Given the description of an element on the screen output the (x, y) to click on. 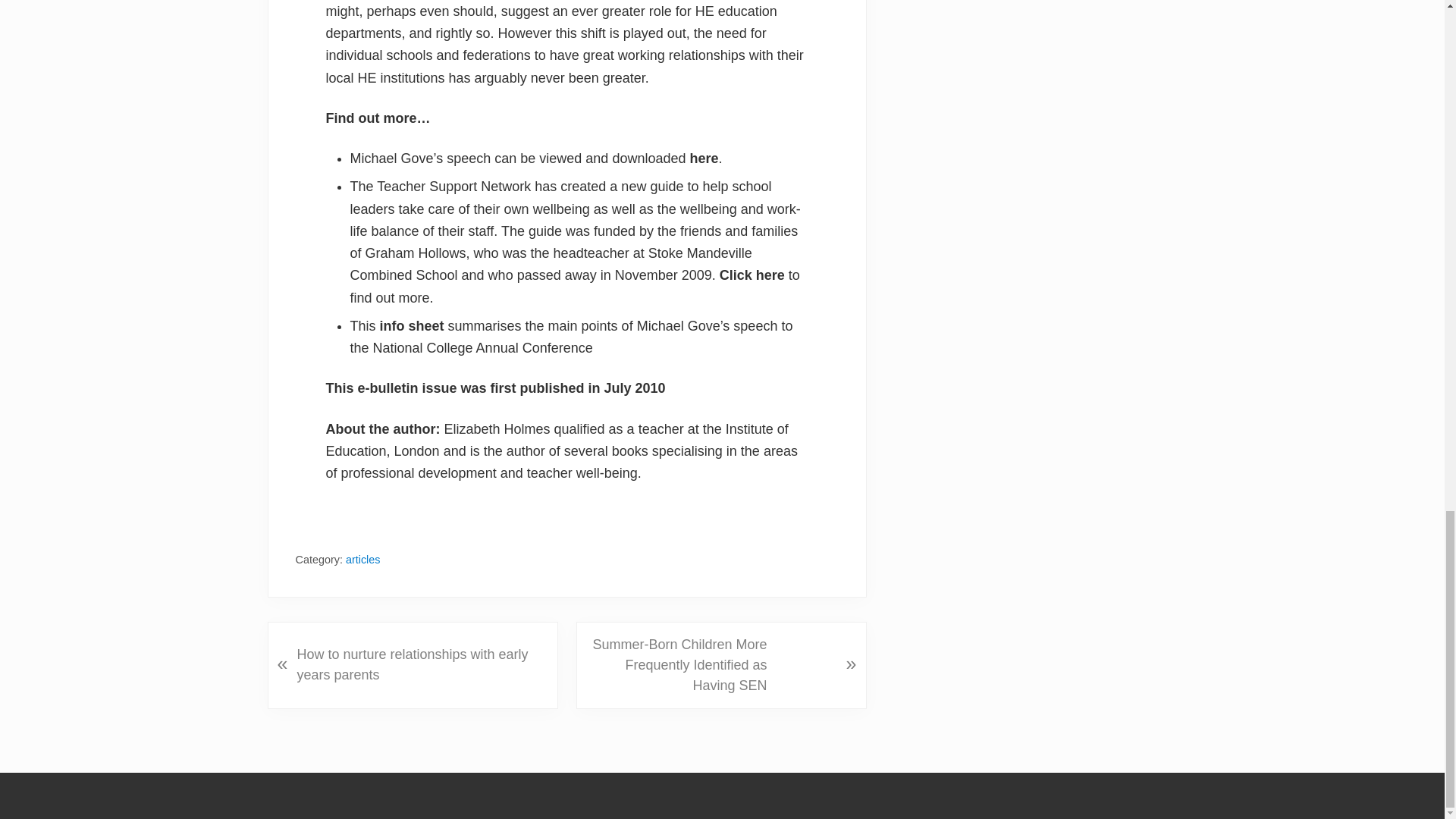
articles (363, 559)
